Given the description of an element on the screen output the (x, y) to click on. 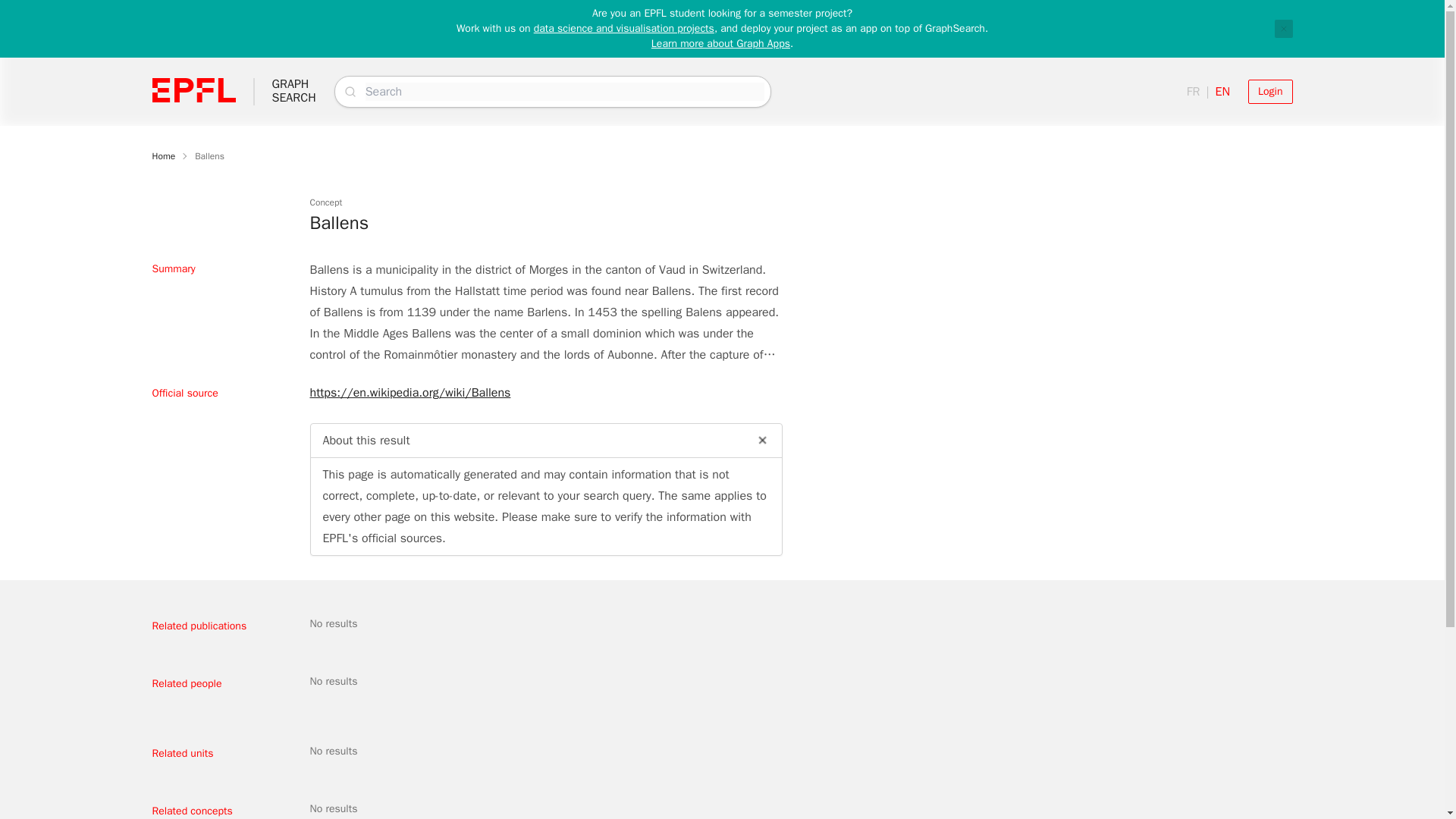
Learn more about Graph Apps (720, 42)
Home (162, 155)
Login (292, 90)
Close notification (1269, 91)
data science and visualisation projects (1283, 28)
Ballens (624, 28)
